Given the description of an element on the screen output the (x, y) to click on. 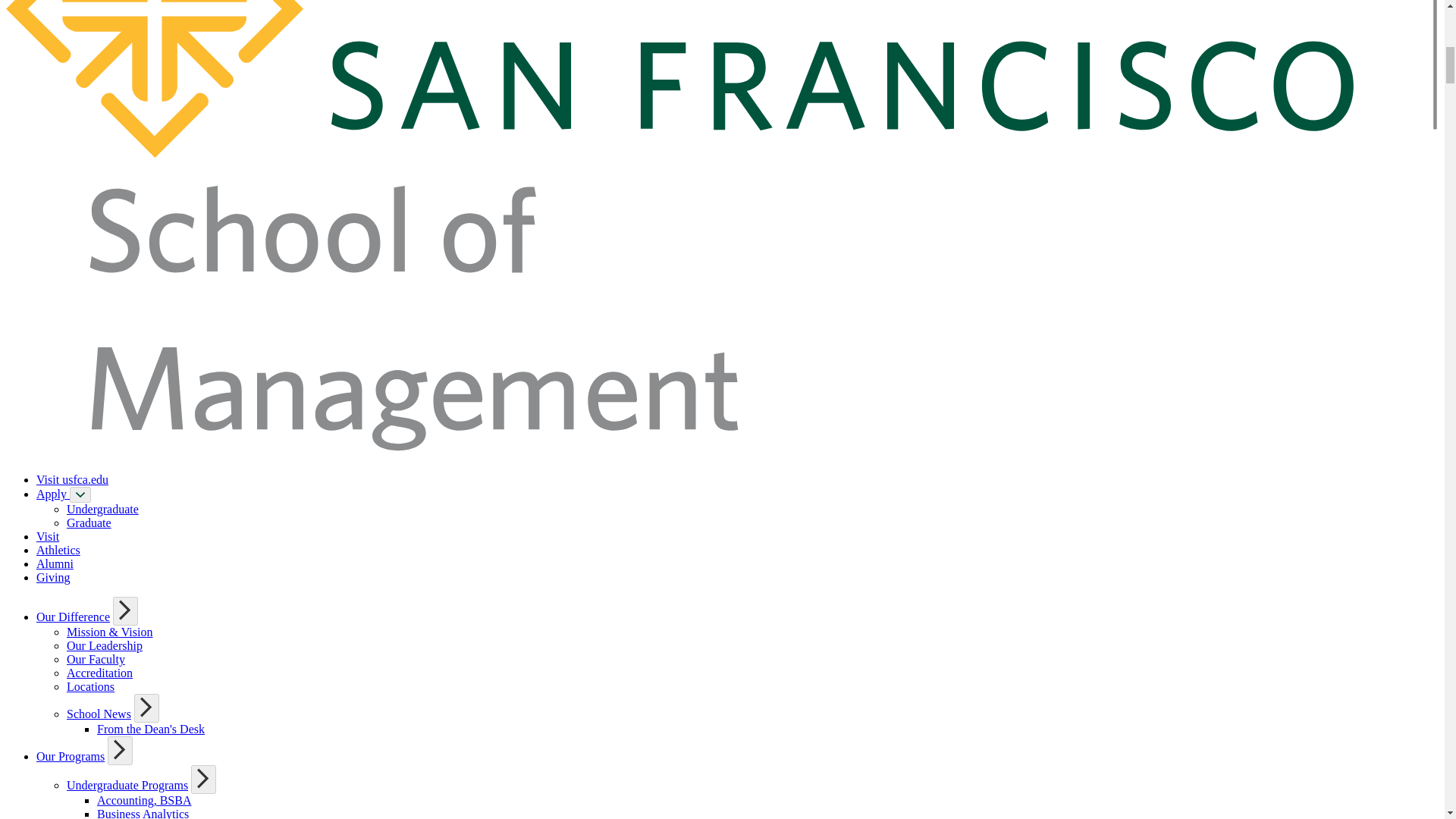
Athletics (58, 549)
Visit (47, 535)
Undergraduate Programs (126, 784)
From the Dean's Desk (151, 728)
Accounting, BSBA (143, 799)
Our Faculty (95, 658)
Our Difference (73, 616)
Our Leadership (104, 645)
Business Analytics (143, 813)
Our Programs (70, 756)
Giving (52, 576)
Graduate (89, 522)
Visit usfca.edu (71, 479)
Undergraduate (102, 508)
Accreditation (99, 672)
